Given the description of an element on the screen output the (x, y) to click on. 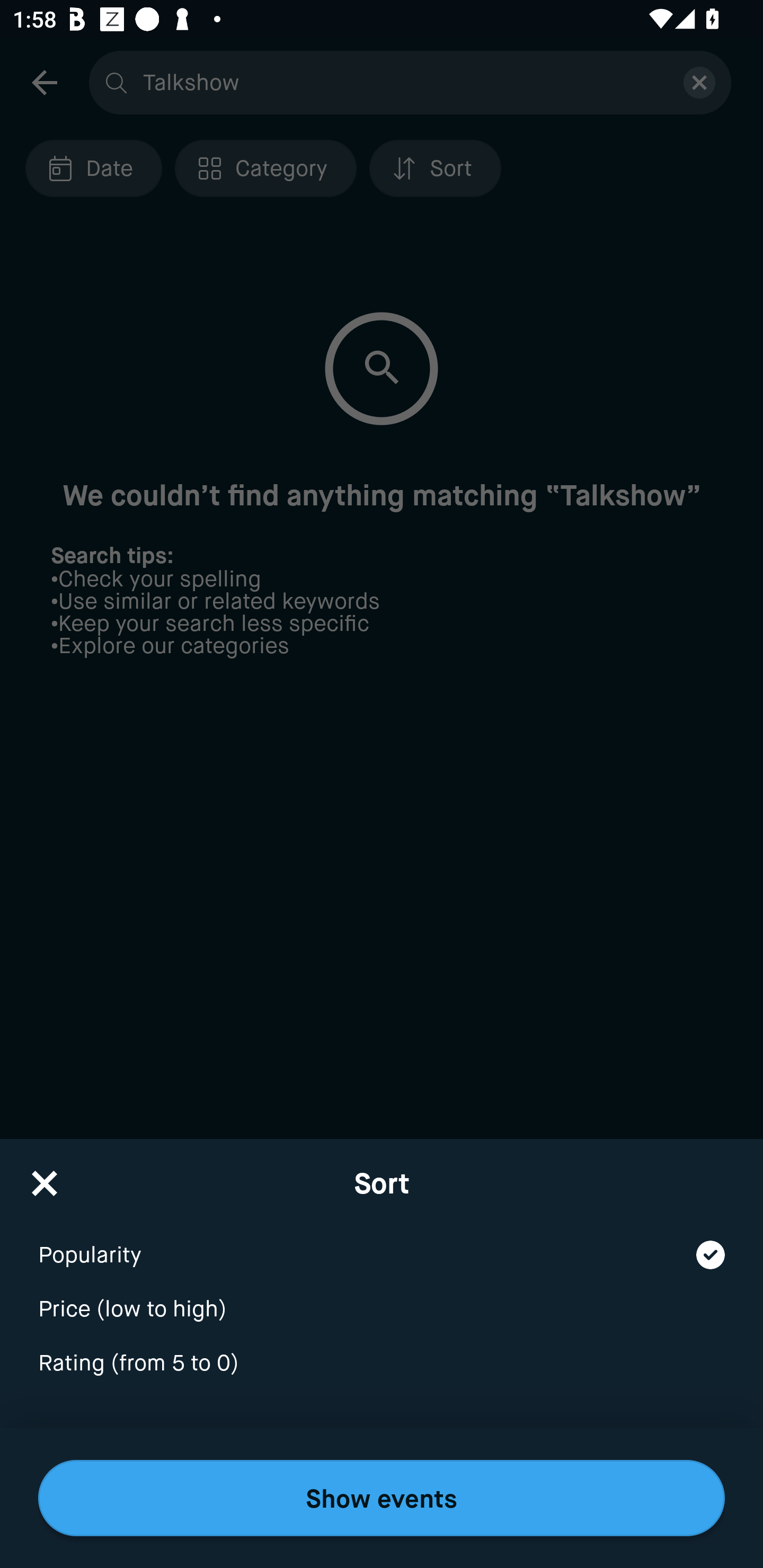
CloseButton (44, 1177)
Popularity Selected Icon (381, 1243)
Price (low to high) (381, 1297)
Rating (from 5 to 0) (381, 1362)
Show events (381, 1497)
